Given the description of an element on the screen output the (x, y) to click on. 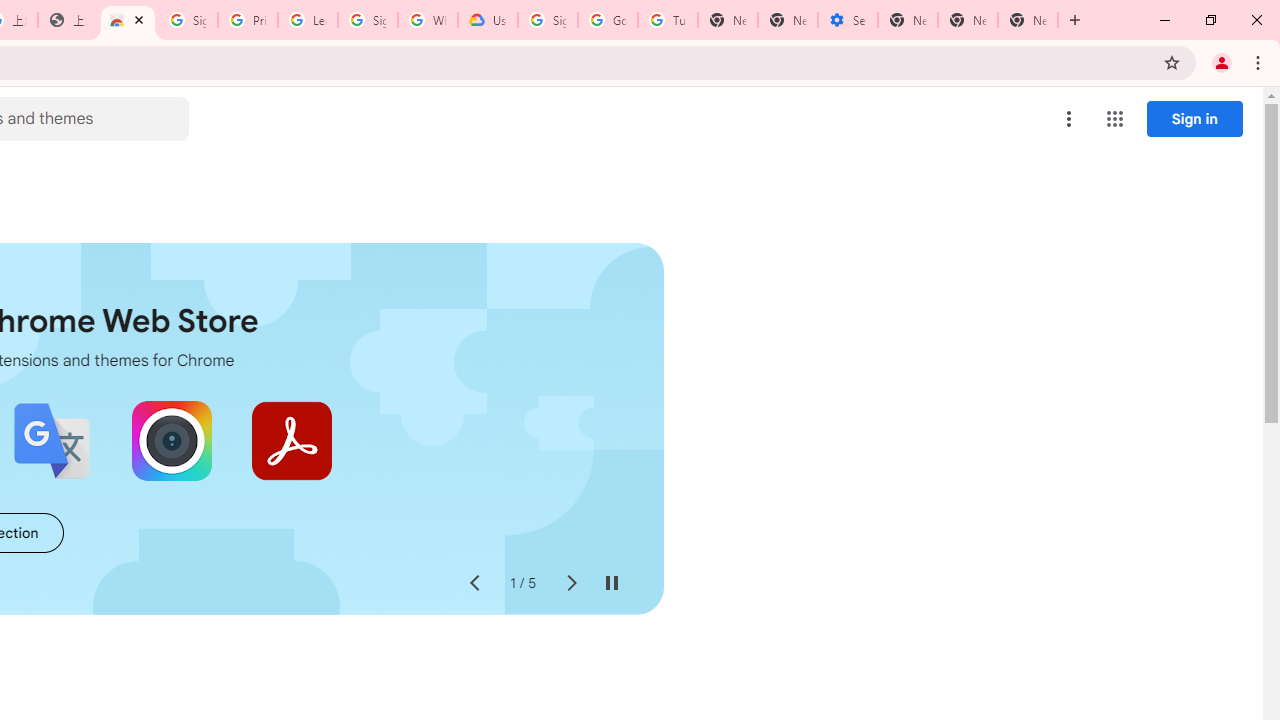
Turn cookies on or off - Computer - Google Account Help (667, 20)
Who are Google's partners? - Privacy and conditions - Google (428, 20)
Chrome Web Store (127, 20)
Google Account Help (607, 20)
More options menu (1069, 118)
Settings - Addresses and more (847, 20)
Pause auto-play (611, 583)
Sign in - Google Accounts (187, 20)
Adobe Acrobat: PDF edit, convert, sign tools (291, 440)
